Given the description of an element on the screen output the (x, y) to click on. 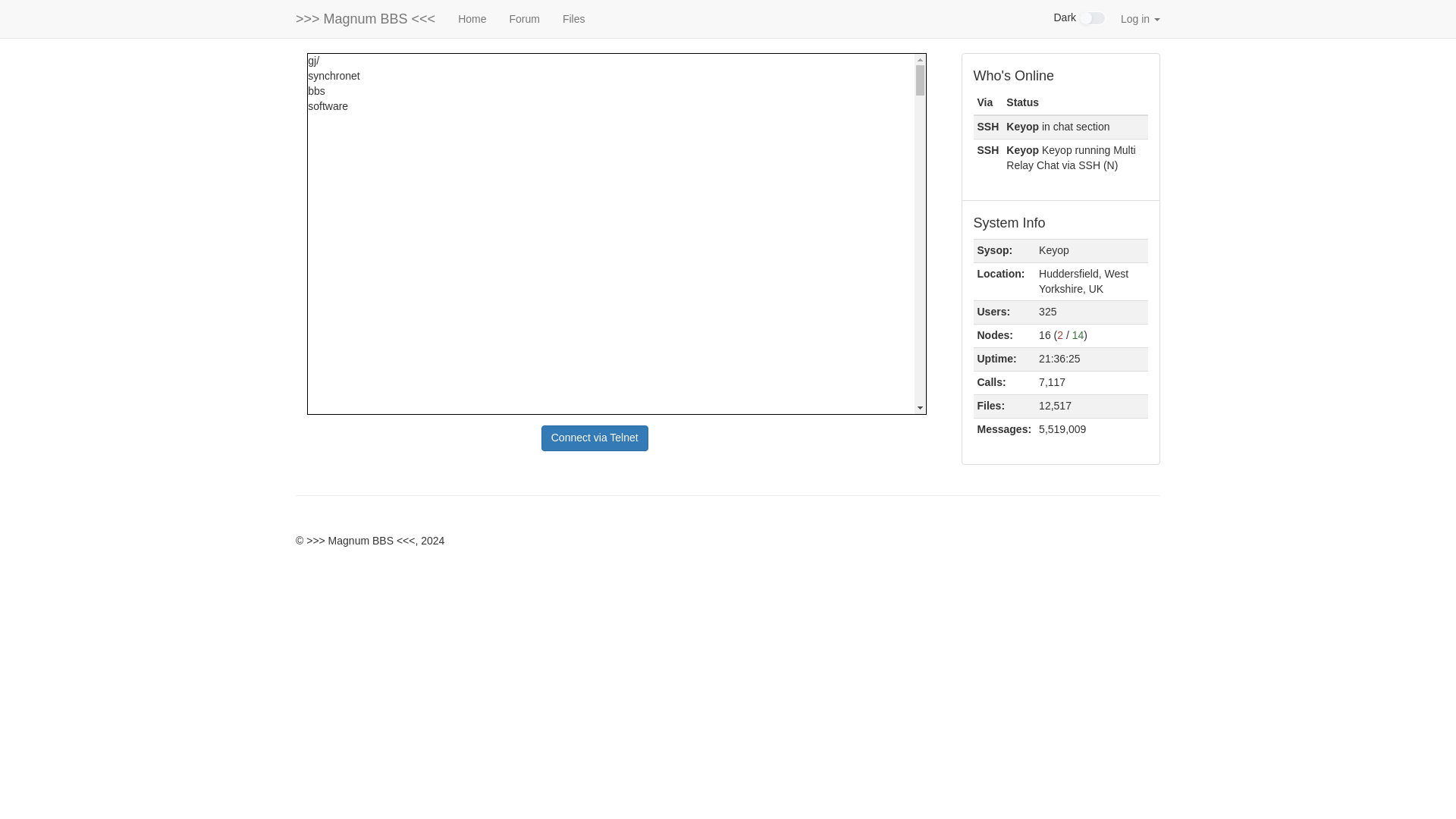
Log in (1140, 18)
Forum (523, 18)
Connect via Telnet (594, 438)
Home (471, 18)
Available (1077, 335)
Files (573, 18)
